Given the description of an element on the screen output the (x, y) to click on. 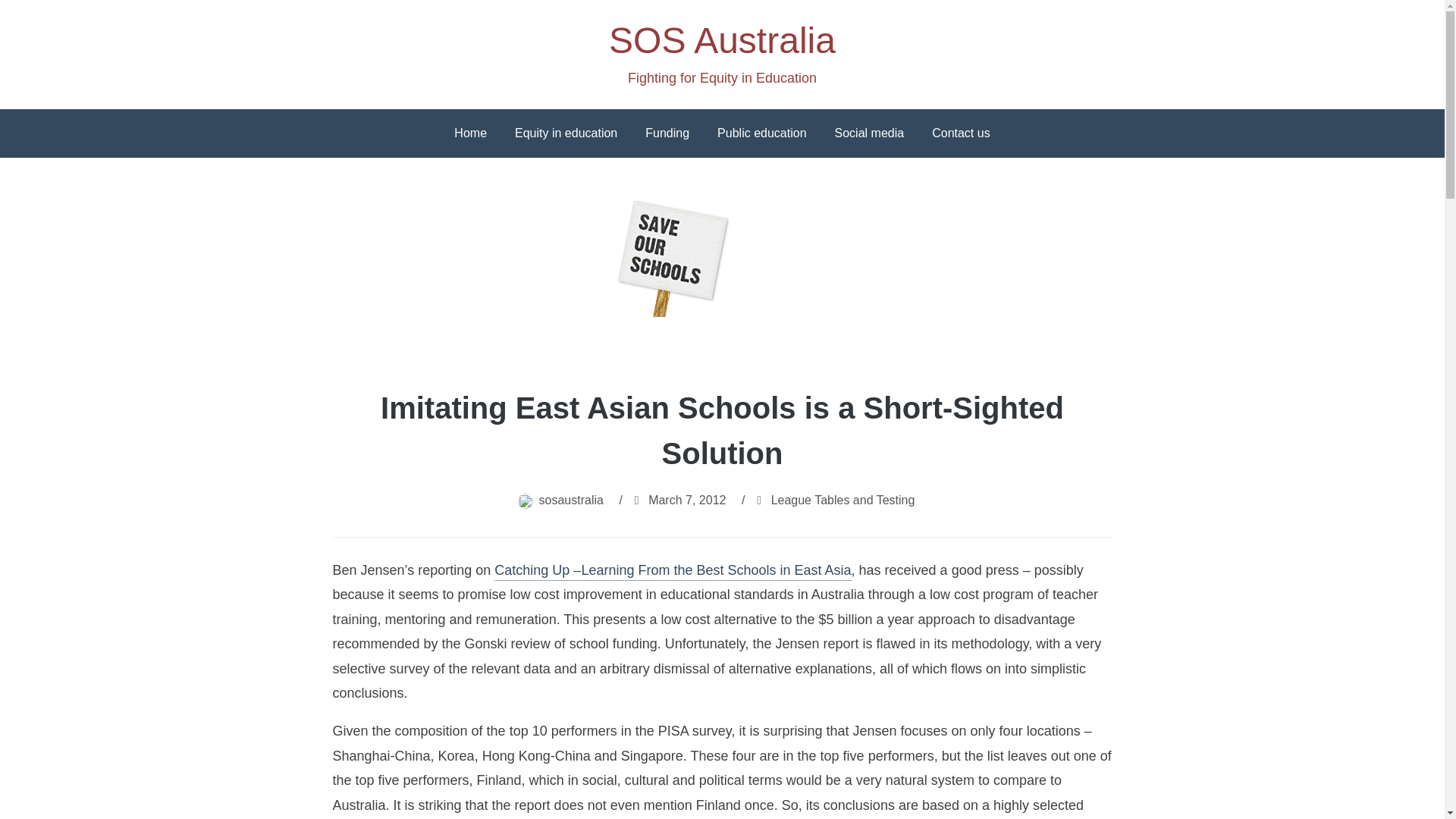
Funding (667, 133)
Home (470, 133)
Public education (761, 133)
Equity in education (565, 133)
League Tables and Testing (843, 499)
March 7, 2012 (686, 499)
Contact us (960, 133)
Social media (869, 133)
sosaustralia (571, 499)
SOS Australia (721, 40)
